Given the description of an element on the screen output the (x, y) to click on. 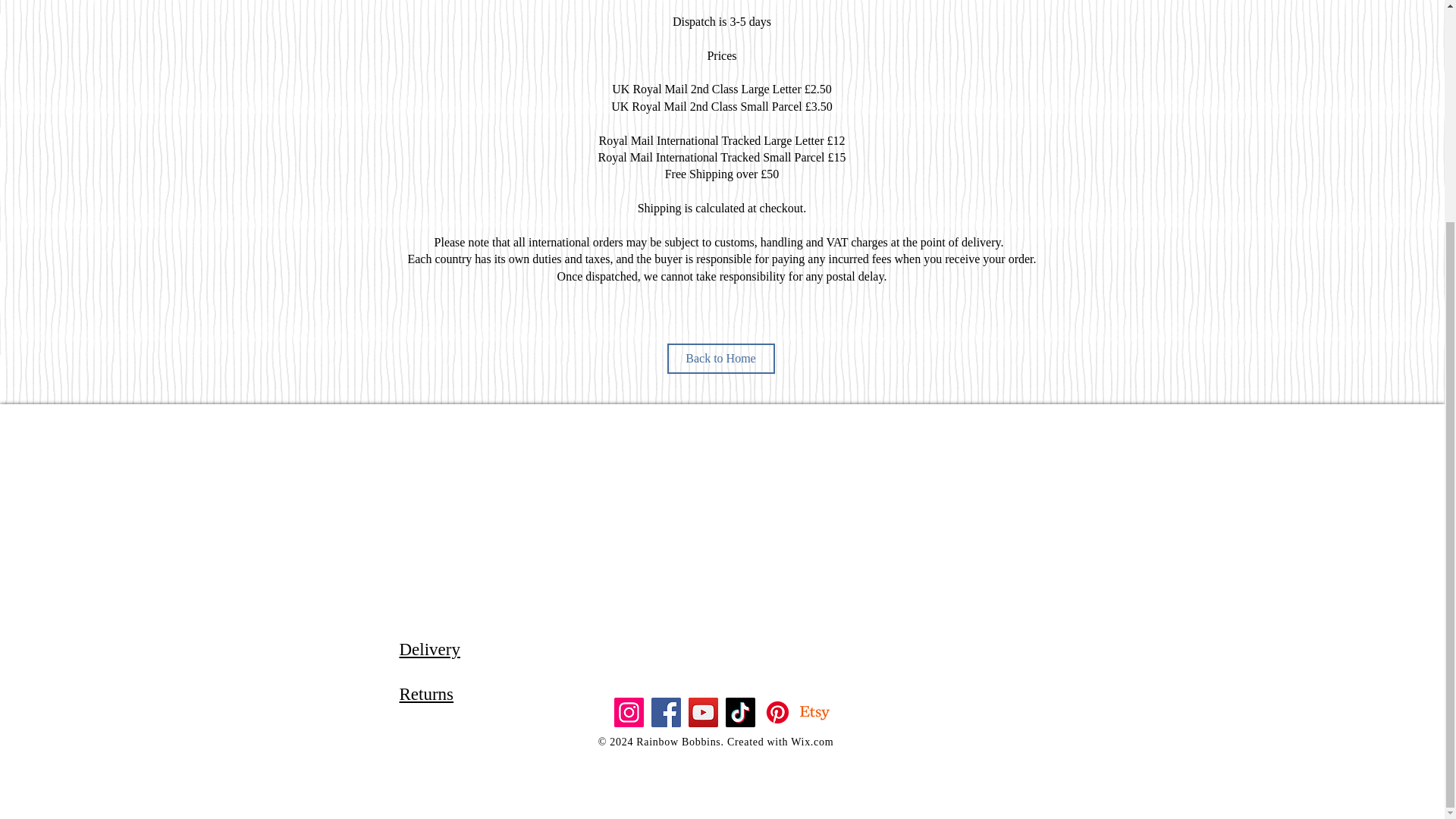
Delivery (429, 649)
Wix.com (811, 741)
Back to Home (720, 358)
Embedded Content (728, 530)
Returns (425, 693)
